Given the description of an element on the screen output the (x, y) to click on. 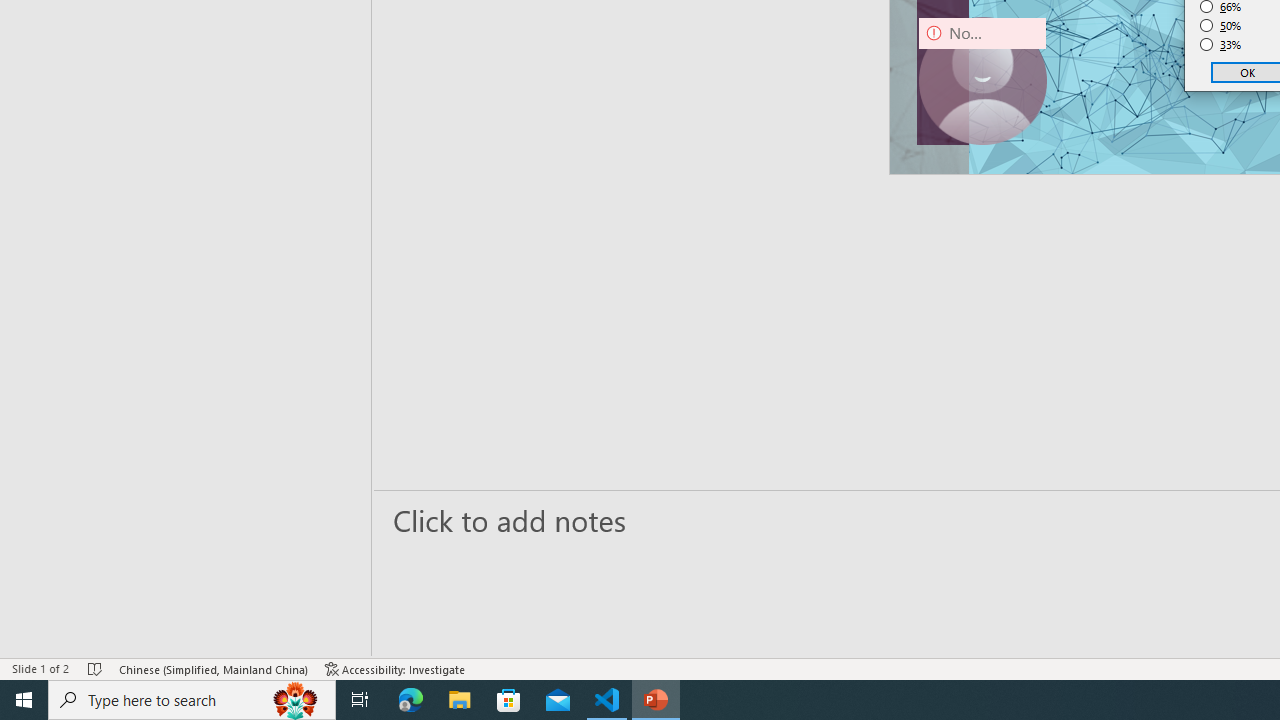
33% (1221, 44)
50% (1221, 25)
Camera 9, No camera detected. (982, 80)
